Given the description of an element on the screen output the (x, y) to click on. 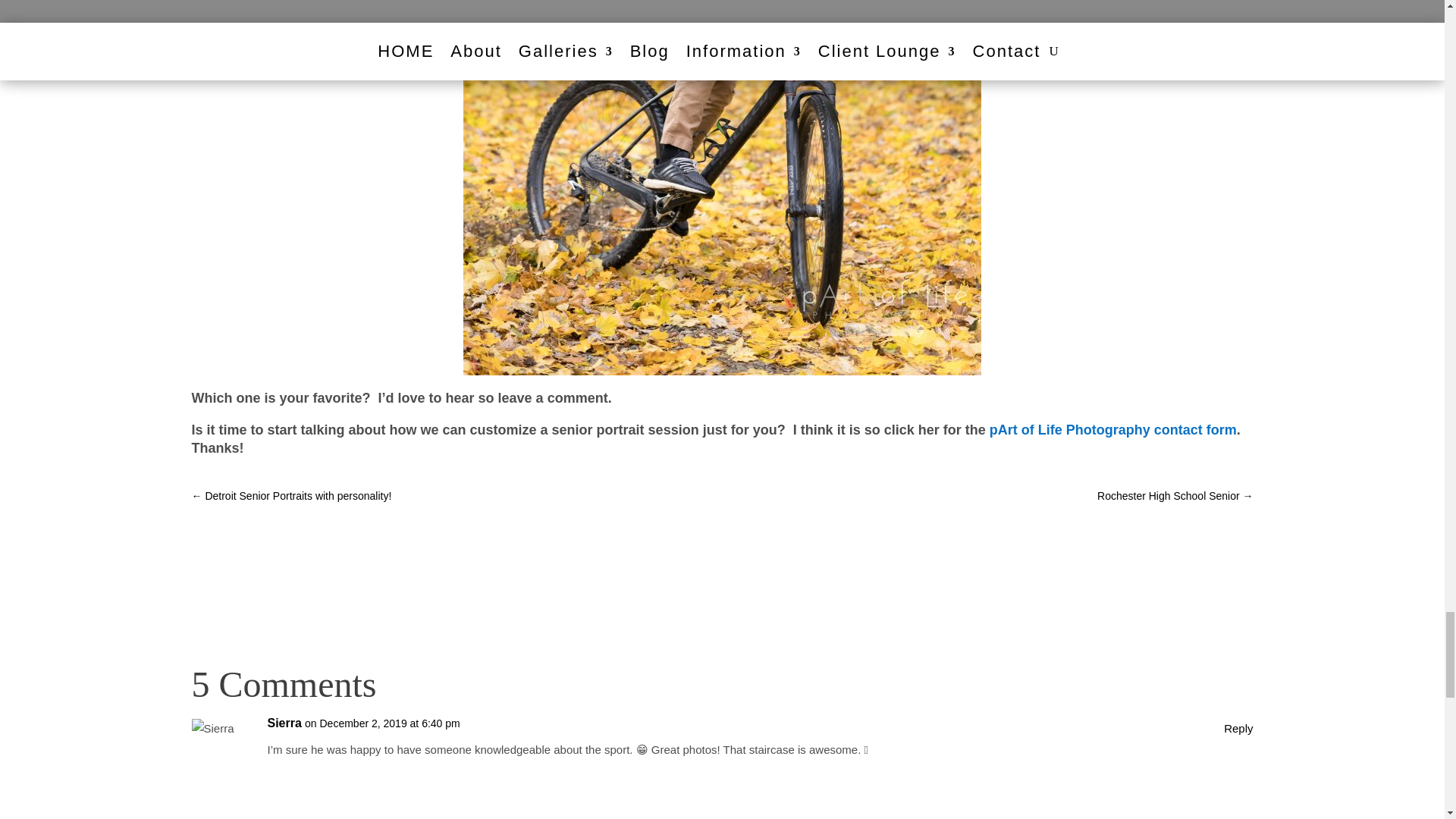
pArt of Life Photography contact form (1113, 429)
